Given the description of an element on the screen output the (x, y) to click on. 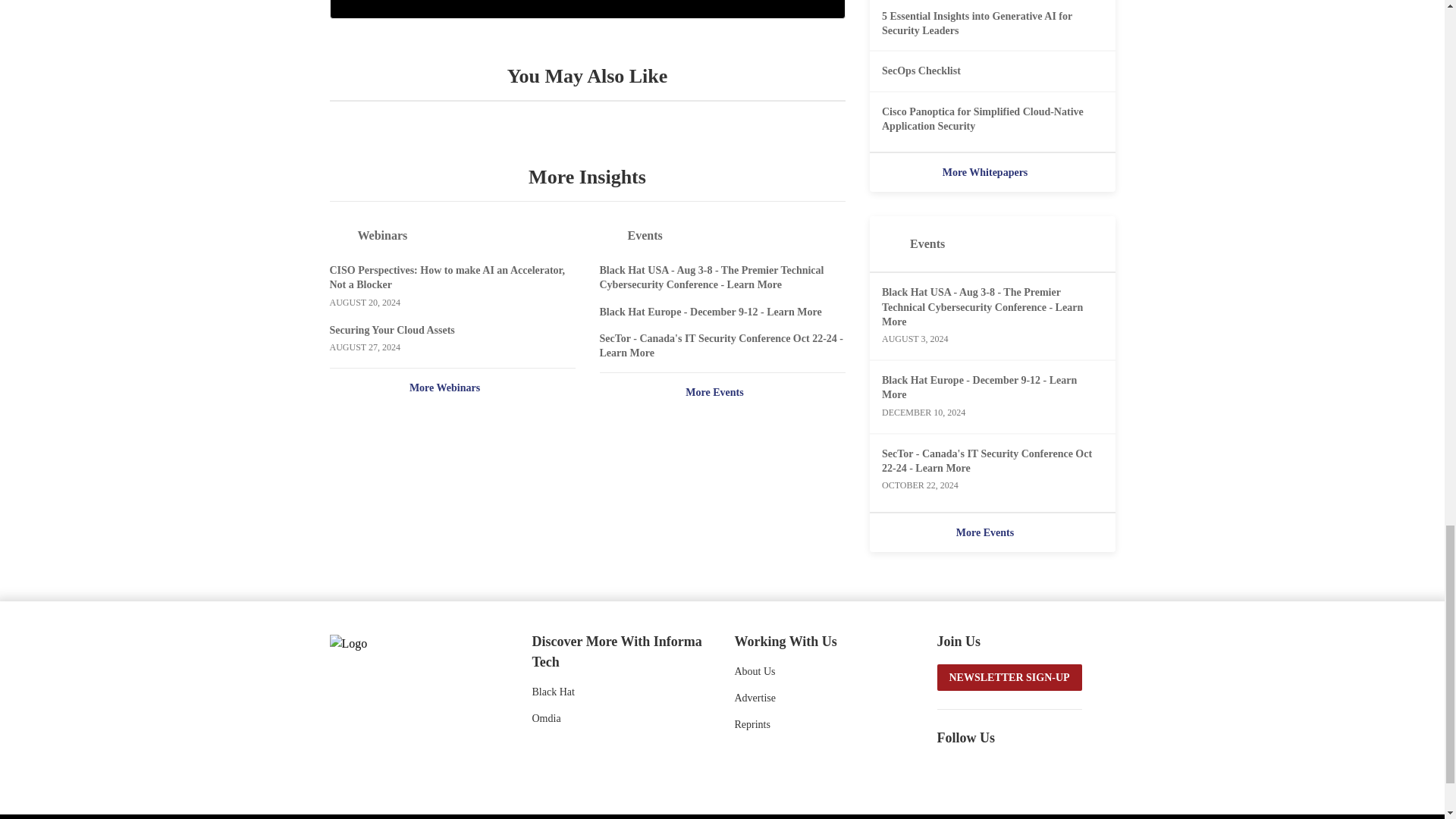
Logo (410, 641)
